Given the description of an element on the screen output the (x, y) to click on. 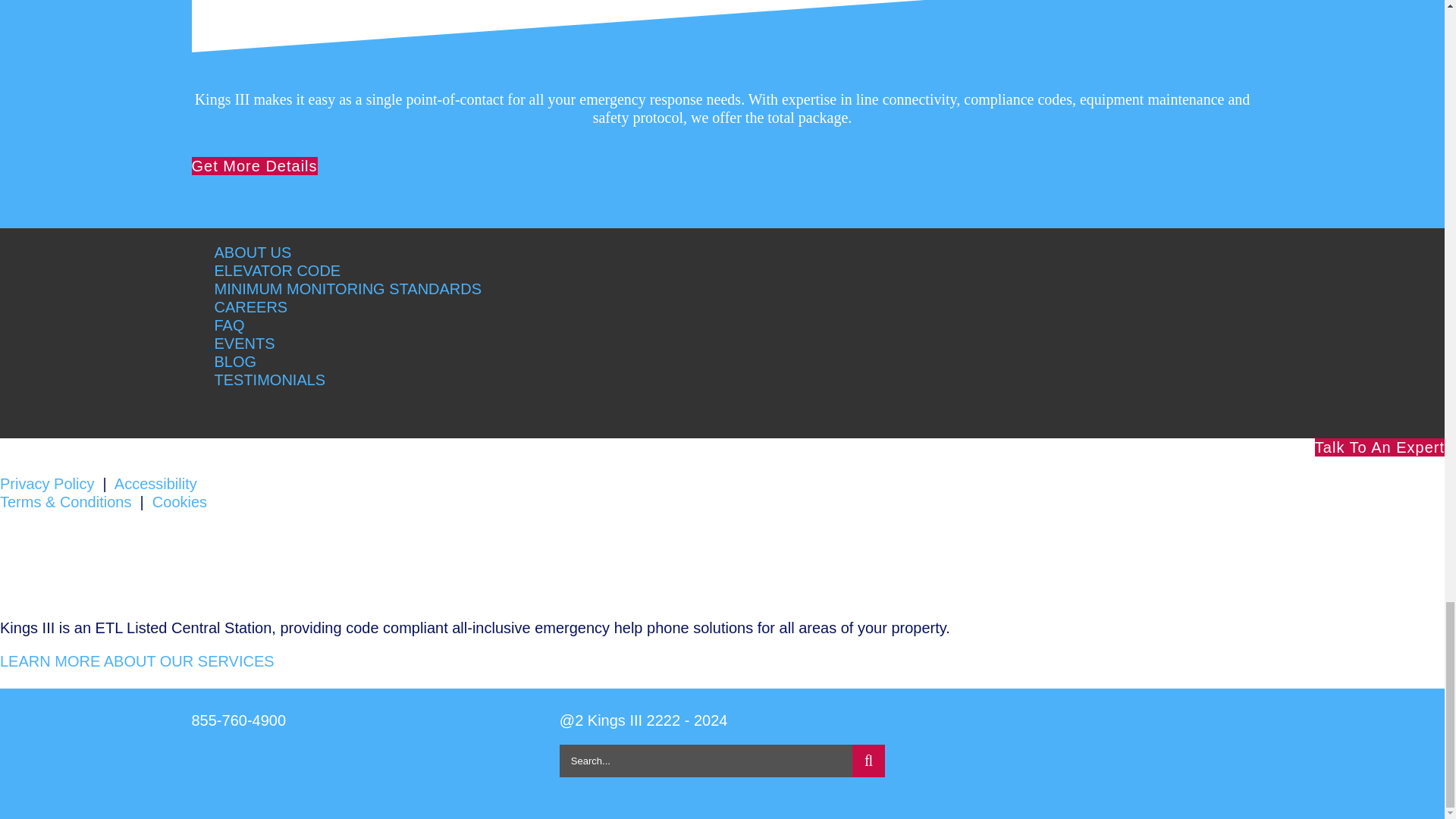
Cookies (179, 501)
Accessibility (155, 483)
Privacy Policy (47, 483)
